Given the description of an element on the screen output the (x, y) to click on. 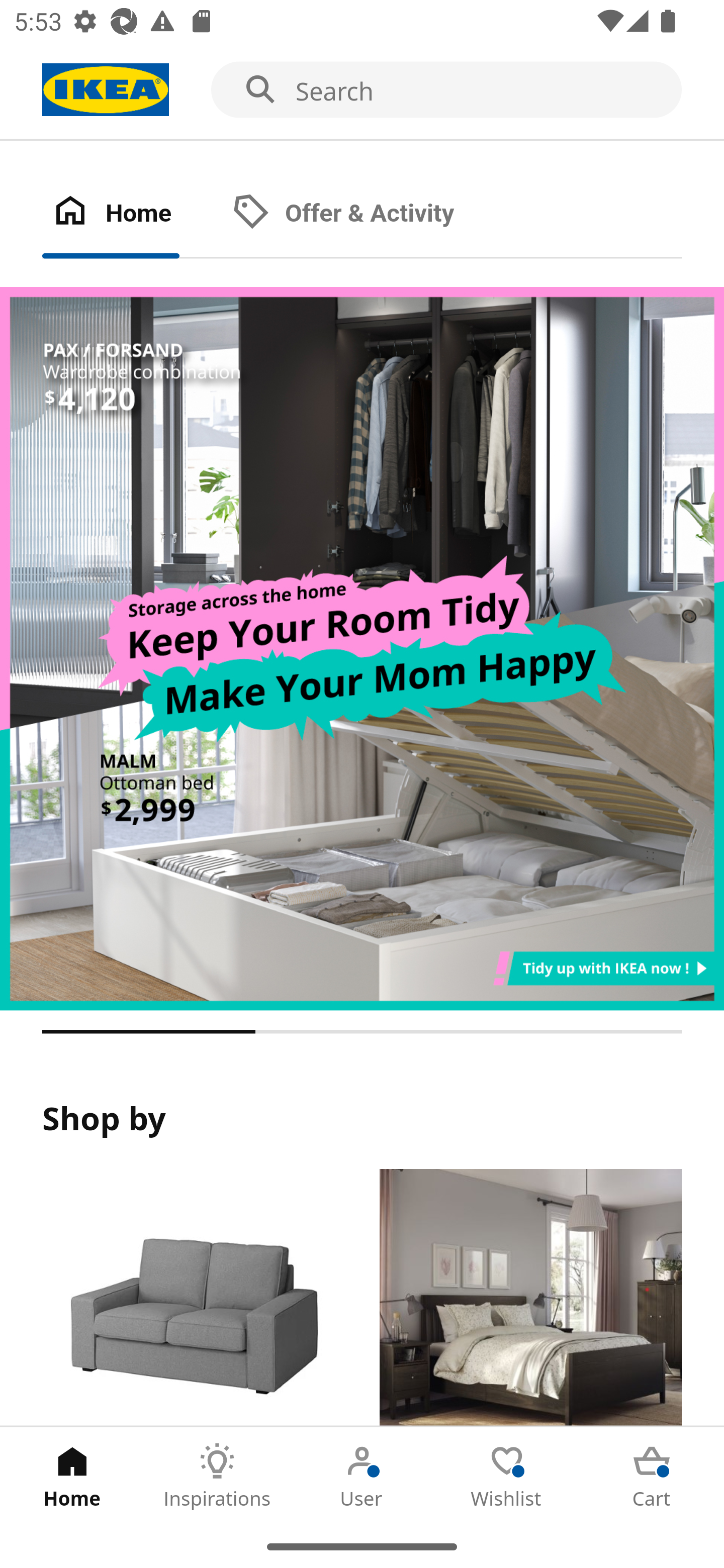
Search (361, 90)
Home
Tab 1 of 2 (131, 213)
Offer & Activity
Tab 2 of 2 (363, 213)
Products (192, 1297)
Rooms (530, 1297)
Home
Tab 1 of 5 (72, 1476)
Inspirations
Tab 2 of 5 (216, 1476)
User
Tab 3 of 5 (361, 1476)
Wishlist
Tab 4 of 5 (506, 1476)
Cart
Tab 5 of 5 (651, 1476)
